Given the description of an element on the screen output the (x, y) to click on. 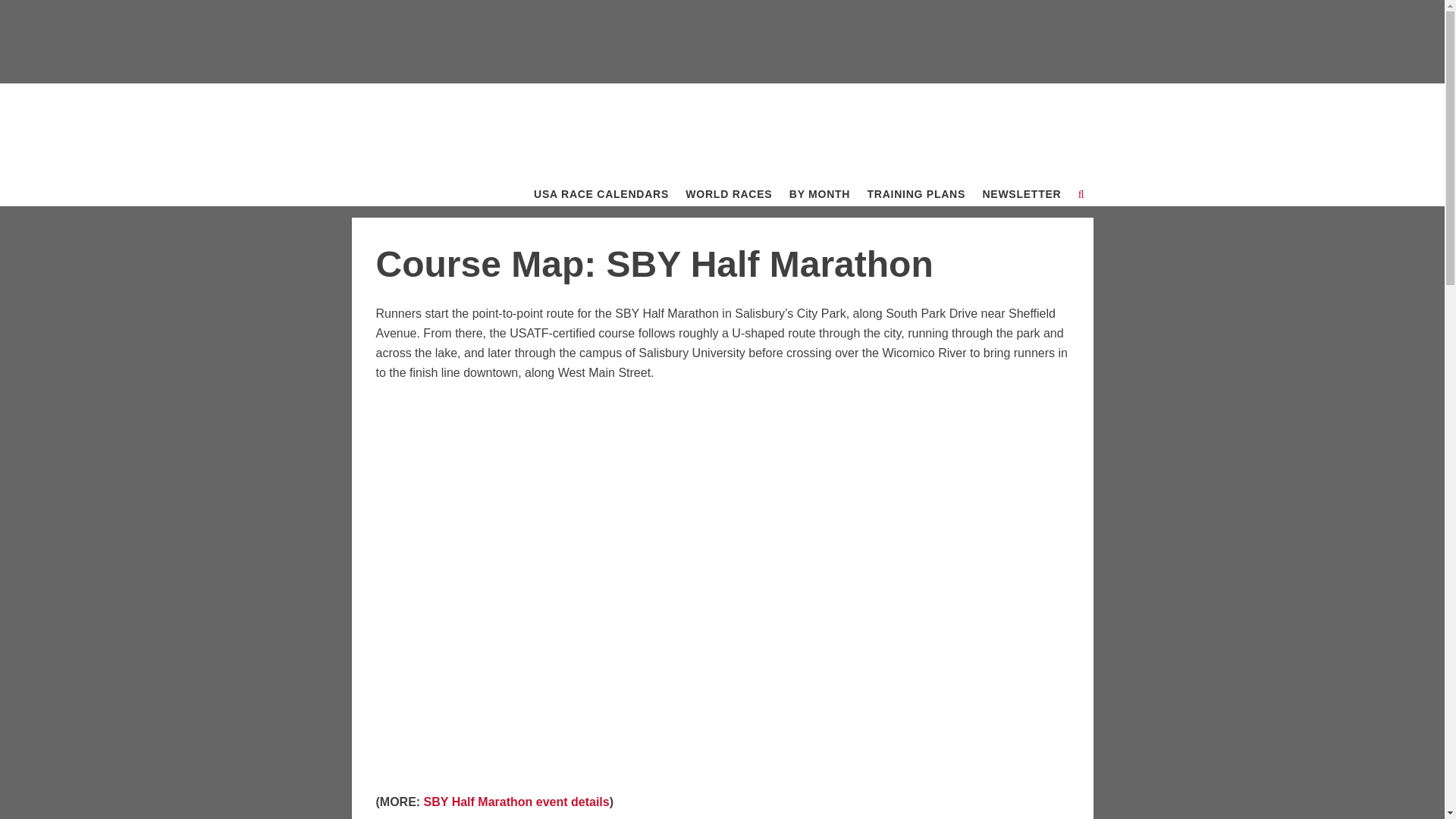
USA RACE CALENDARS (601, 194)
WORLD RACES (728, 194)
NEWSLETTER (1021, 194)
TRAINING PLANS (916, 194)
HalfMarathons.Net (438, 117)
BY MONTH (819, 194)
